Given the description of an element on the screen output the (x, y) to click on. 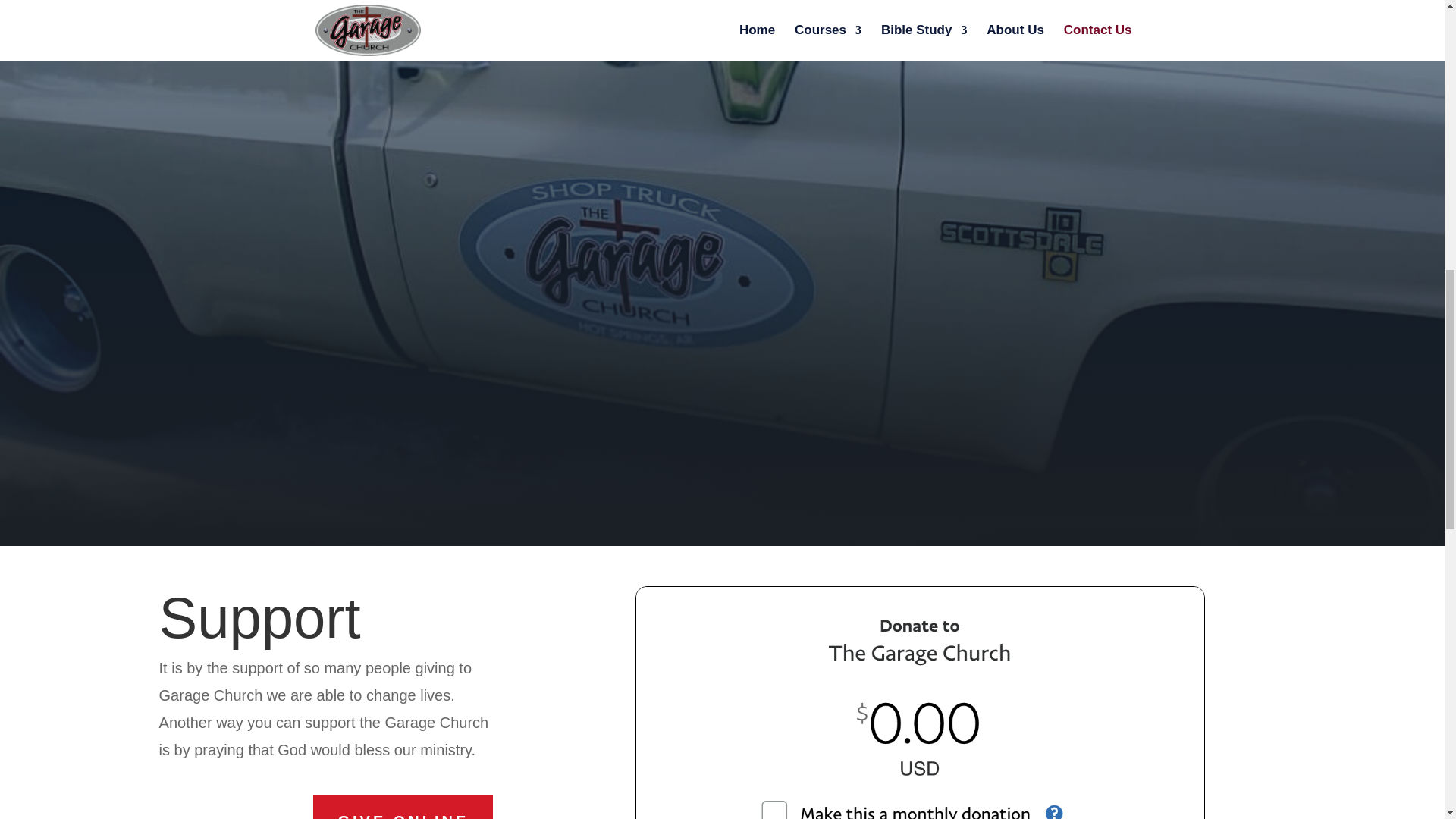
Give to Garage Church in Hot Spirngs Arkansas (920, 703)
GIVE ONLINE (403, 806)
